Given the description of an element on the screen output the (x, y) to click on. 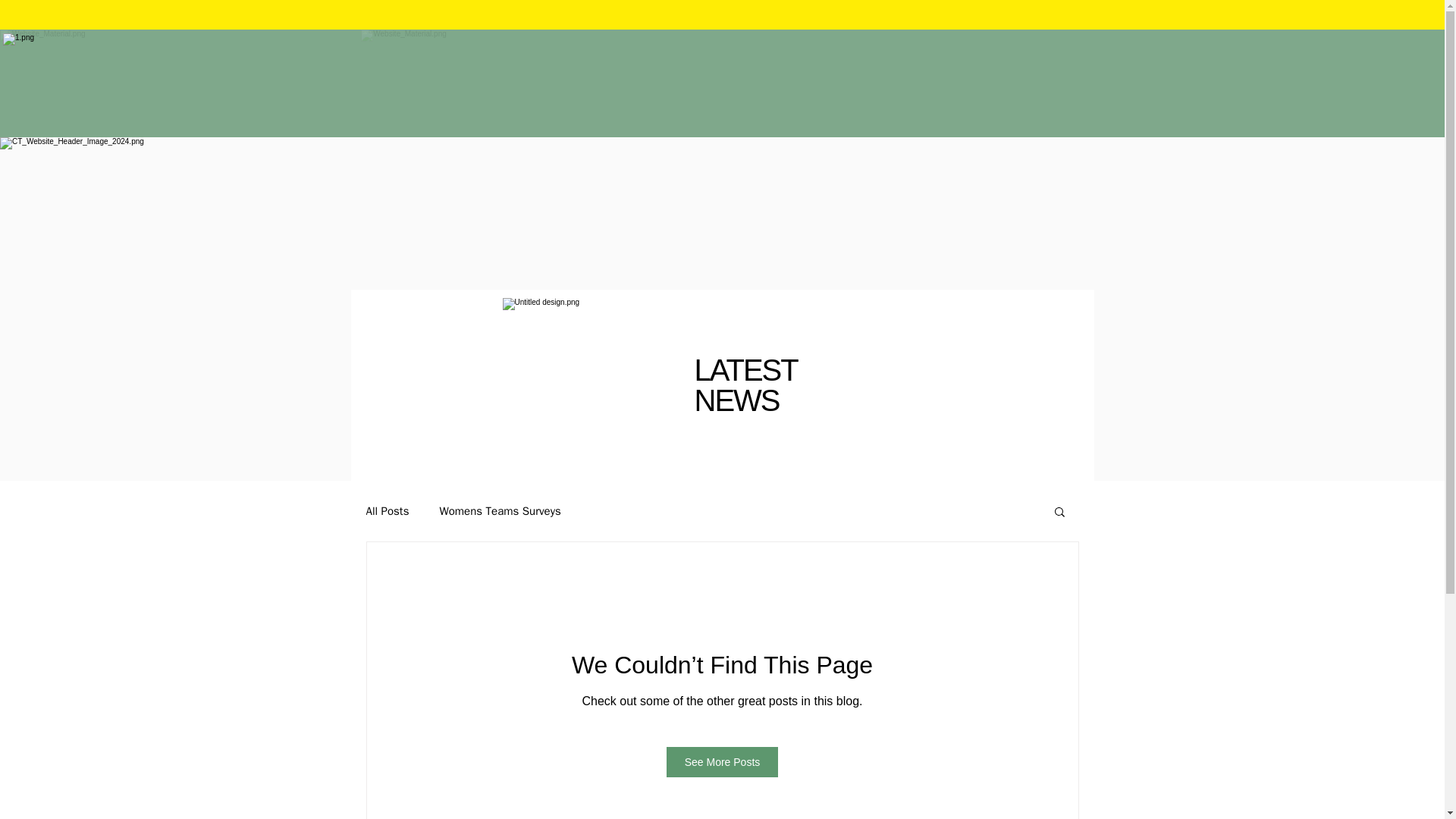
All Posts (387, 510)
See More Posts (722, 761)
IMG-20240530-WA0000.jpg (589, 385)
Womens Teams Surveys (499, 510)
